Given the description of an element on the screen output the (x, y) to click on. 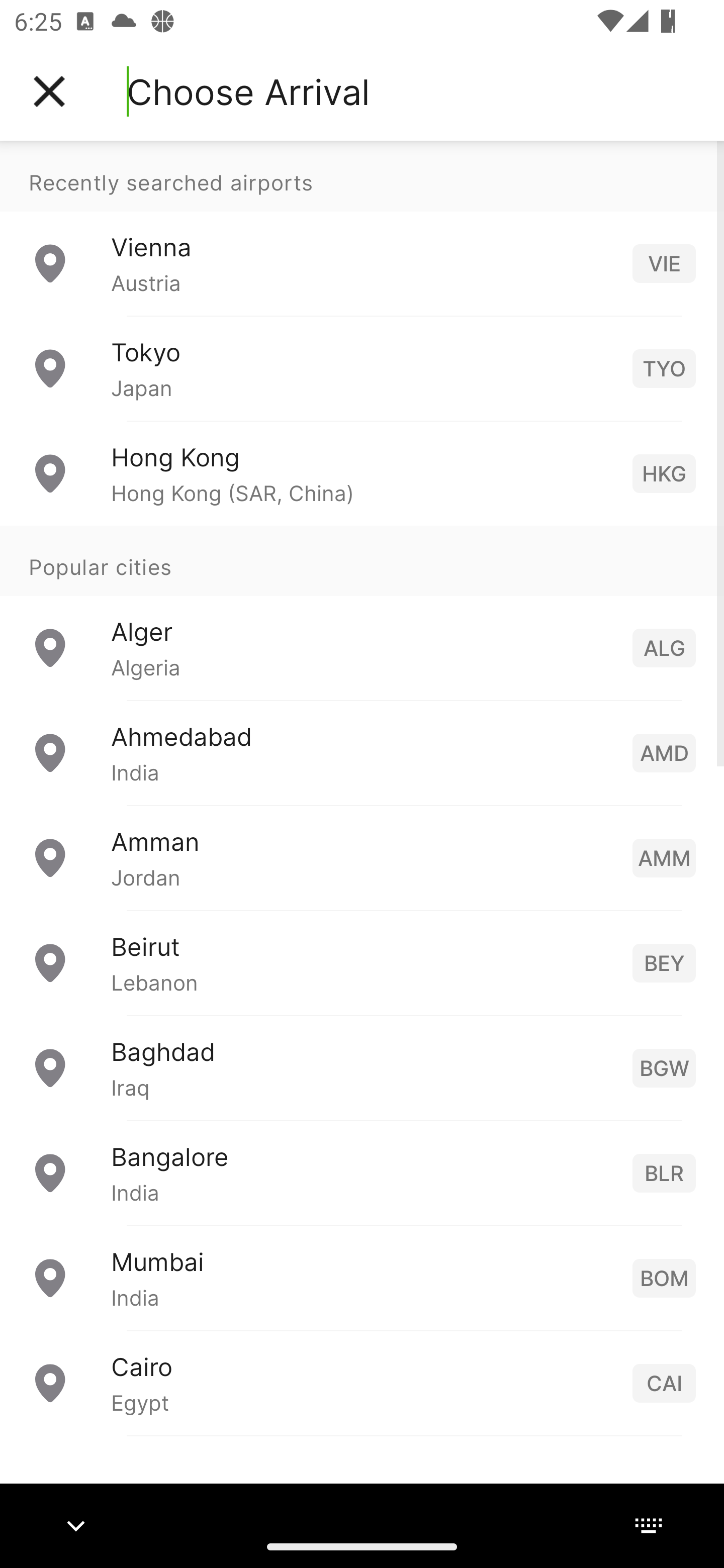
Choose Arrival (247, 91)
Recently searched airports Vienna Austria VIE (362, 228)
Recently searched airports (362, 176)
Tokyo Japan TYO (362, 367)
Hong Kong Hong Kong (SAR, China) HKG (362, 472)
Popular cities Alger Algeria ALG (362, 612)
Popular cities (362, 560)
Ahmedabad India AMD (362, 751)
Amman Jordan AMM (362, 856)
Beirut Lebanon BEY (362, 961)
Baghdad Iraq BGW (362, 1066)
Bangalore India BLR (362, 1171)
Mumbai India BOM (362, 1276)
Cairo Egypt CAI (362, 1381)
